Given the description of an element on the screen output the (x, y) to click on. 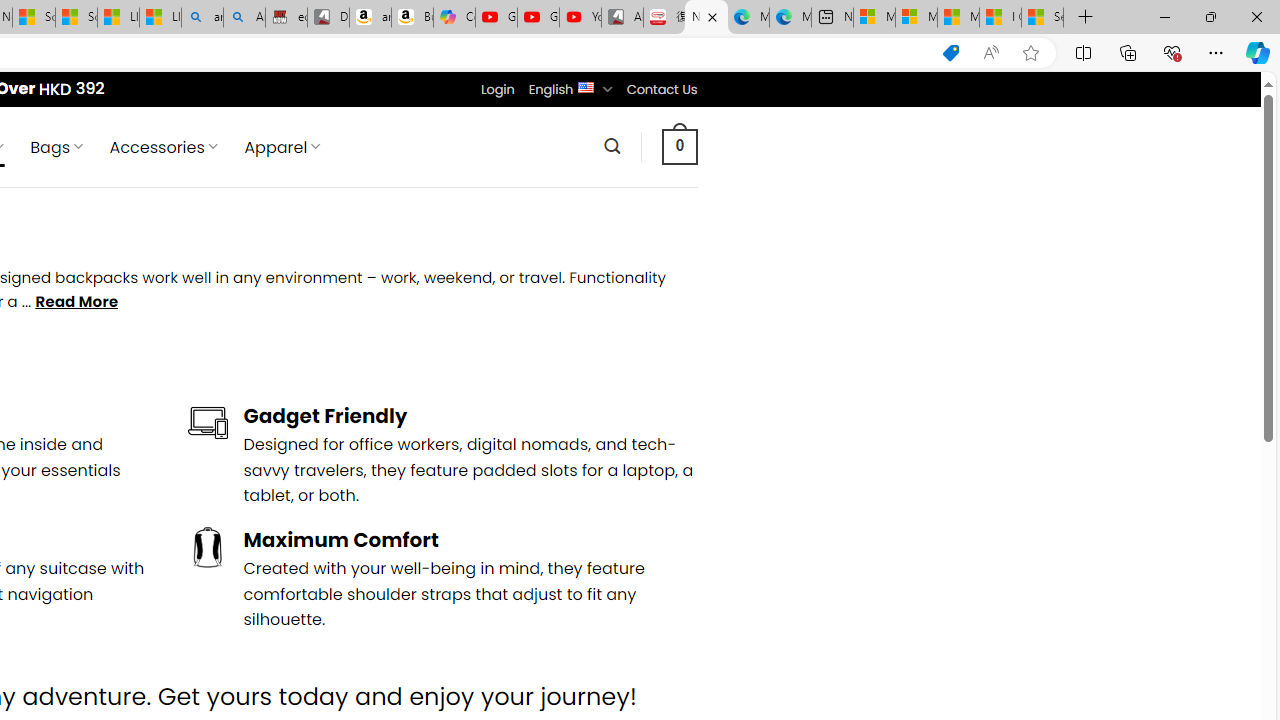
YouTube Kids - An App Created for Kids to Explore Content (580, 17)
Copilot (453, 17)
  0   (679, 146)
 0  (679, 146)
Read More (76, 301)
This site has coupons! Shopping in Microsoft Edge (950, 53)
Login (497, 89)
